Given the description of an element on the screen output the (x, y) to click on. 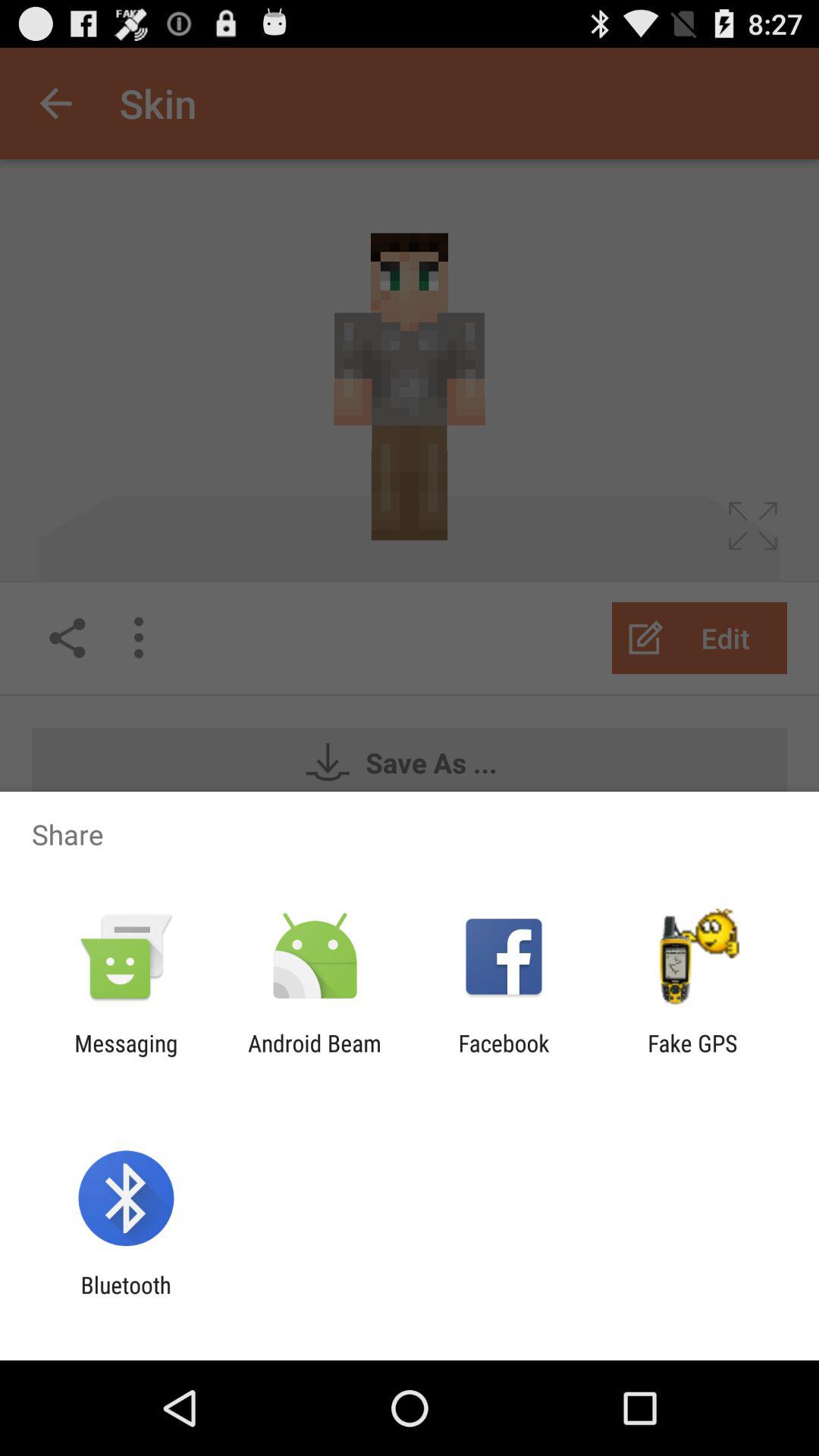
flip until the facebook (503, 1056)
